Given the description of an element on the screen output the (x, y) to click on. 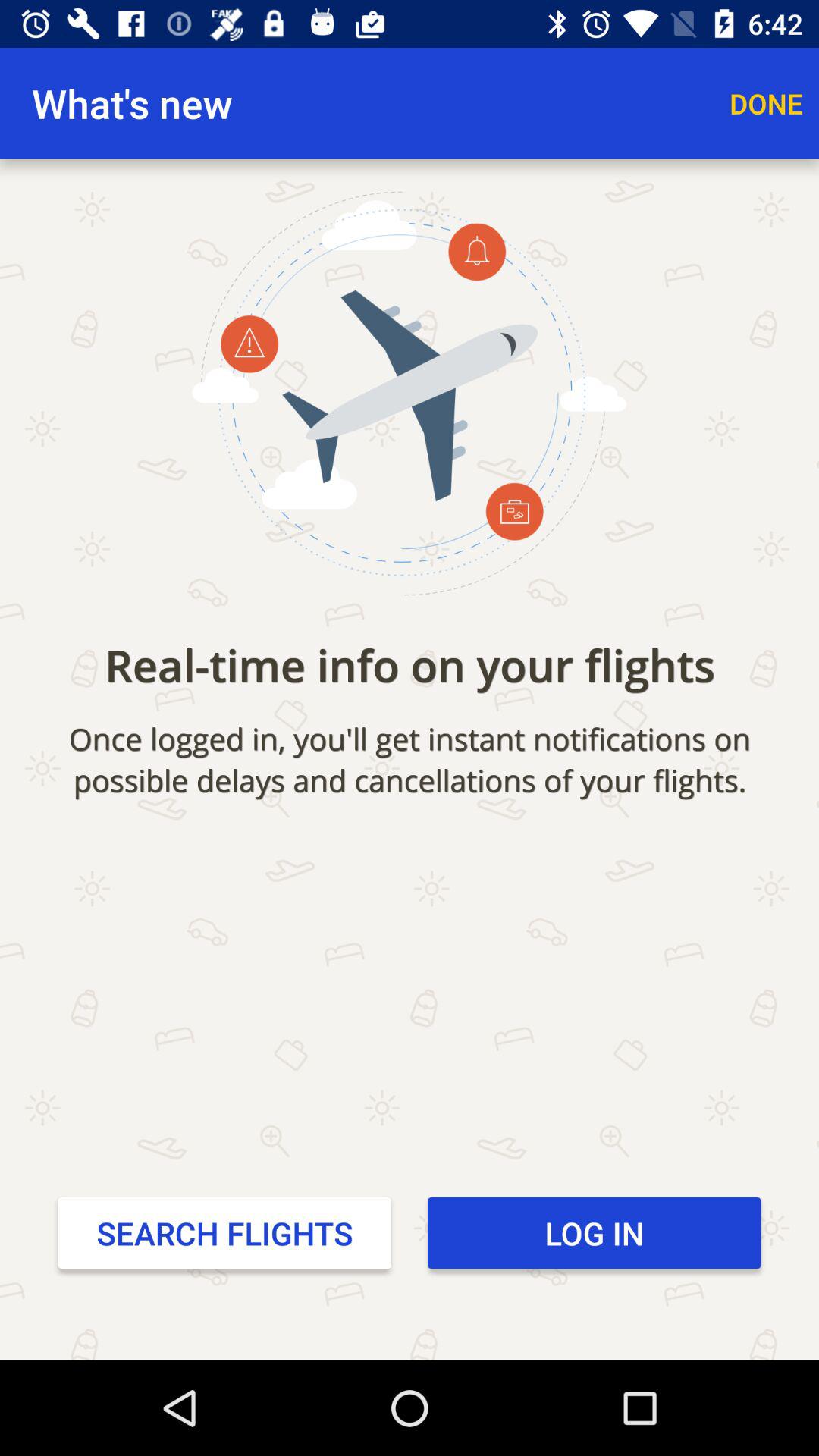
open log in item (593, 1232)
